Given the description of an element on the screen output the (x, y) to click on. 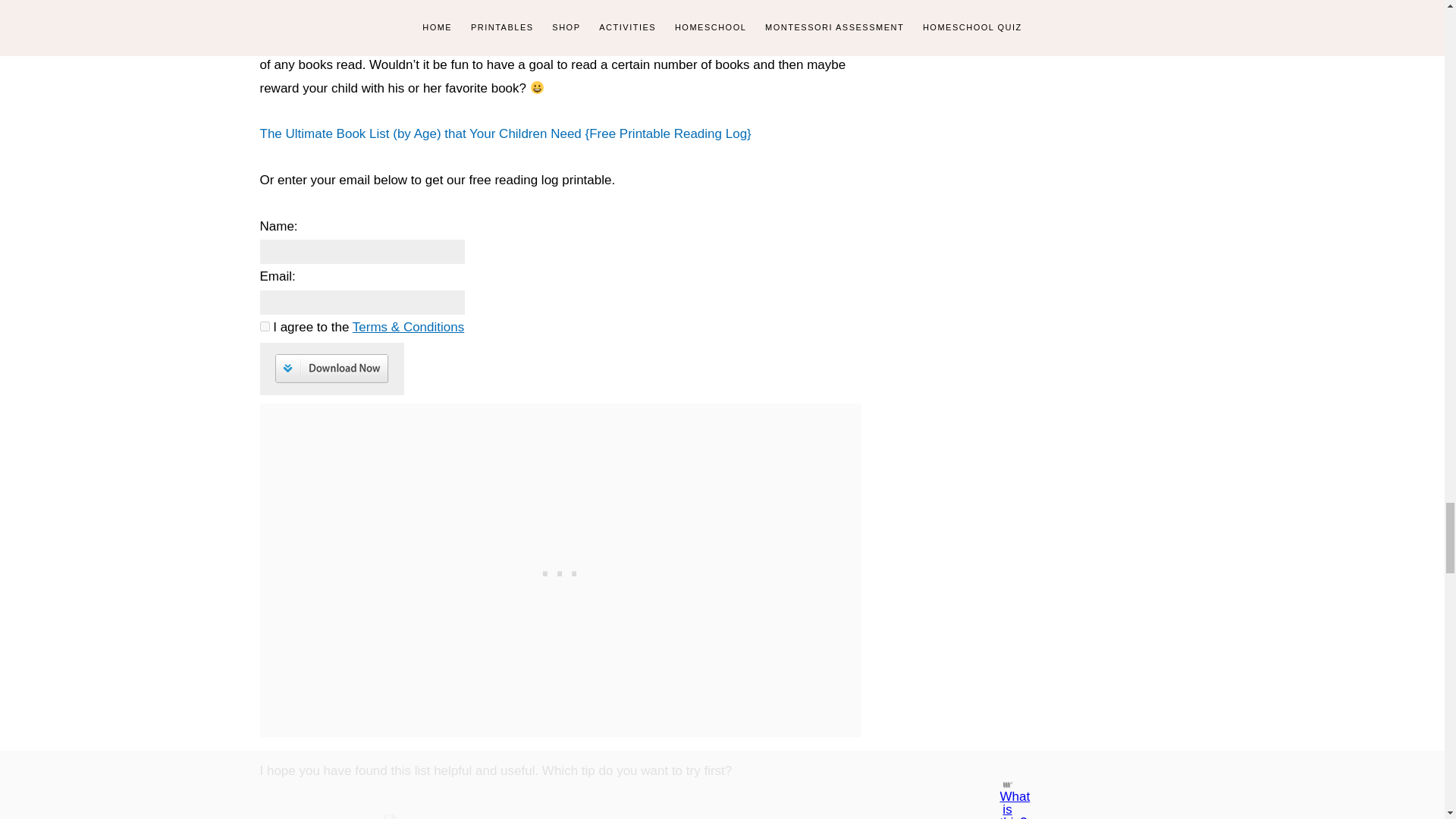
Your Baby Can Learn! Deluxe Kit (389, 816)
Teach My Baby Learning Kit (560, 816)
Teach My Toddler Learning Kit (729, 816)
